Given the description of an element on the screen output the (x, y) to click on. 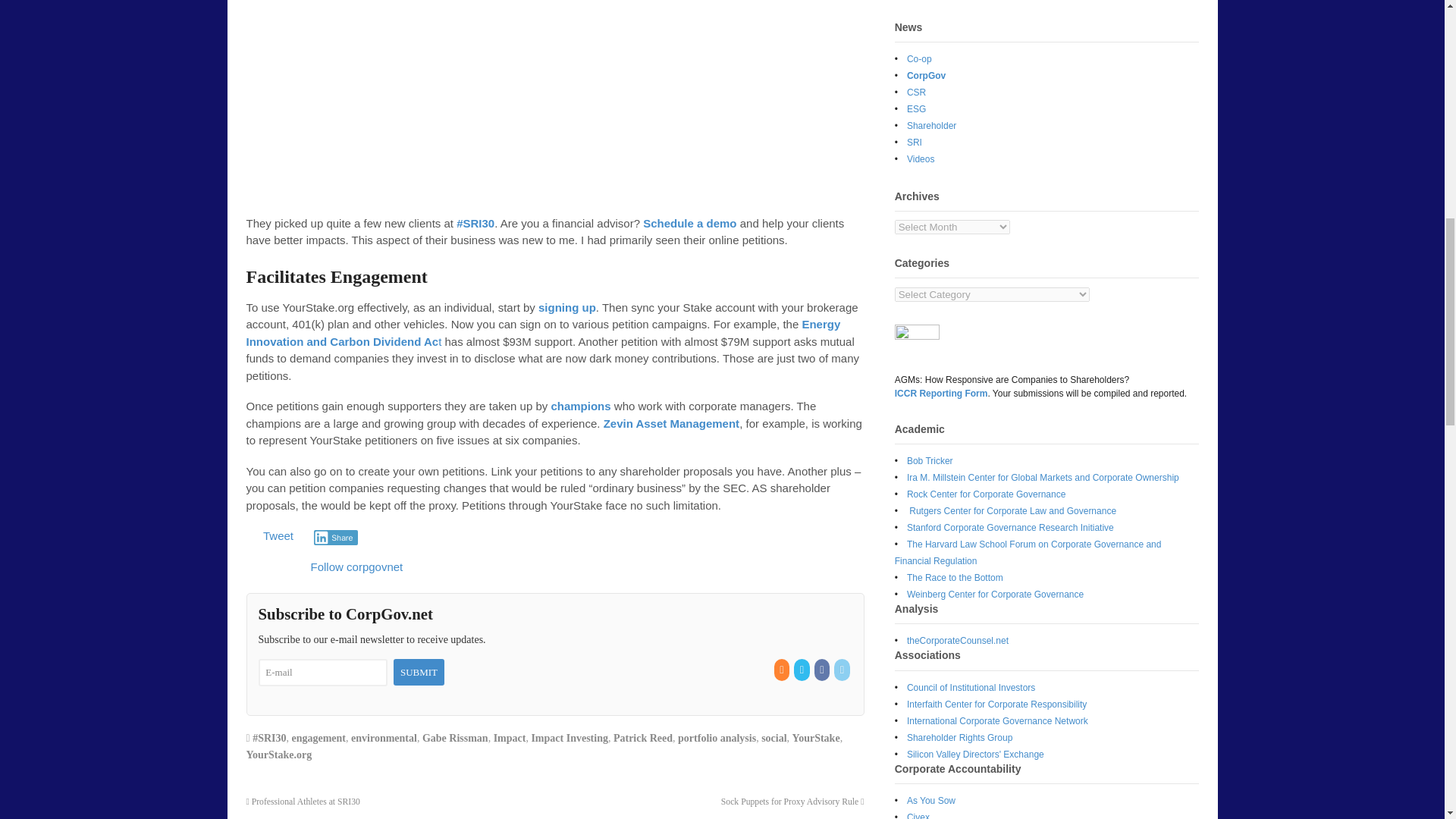
Twitter (801, 669)
LinkedIn (842, 669)
Facebook (822, 669)
RSS (783, 669)
Submit (418, 672)
E-mail (322, 672)
